Given the description of an element on the screen output the (x, y) to click on. 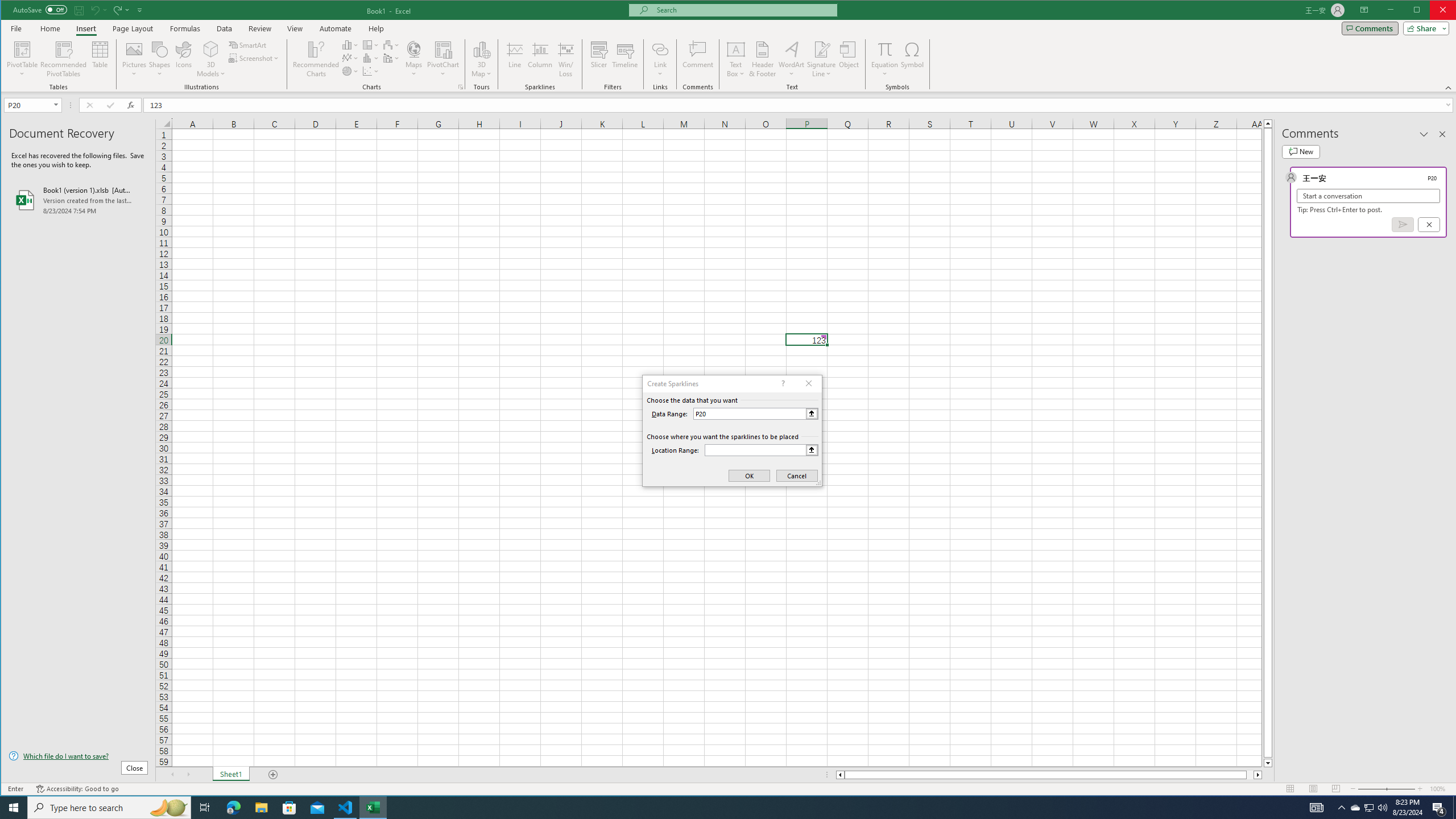
Timeline (625, 59)
Automate (336, 28)
Task Pane Options (1423, 133)
Line up (1267, 122)
WordArt (791, 59)
Insert (85, 28)
Book1 (version 1).xlsb  [AutoRecovered] (78, 199)
Page right (1249, 774)
Insert Combo Chart (391, 57)
Customize Quick Access Toolbar (140, 9)
Save (79, 9)
Page Break Preview (1335, 788)
Which file do I want to save? (78, 755)
